Given the description of an element on the screen output the (x, y) to click on. 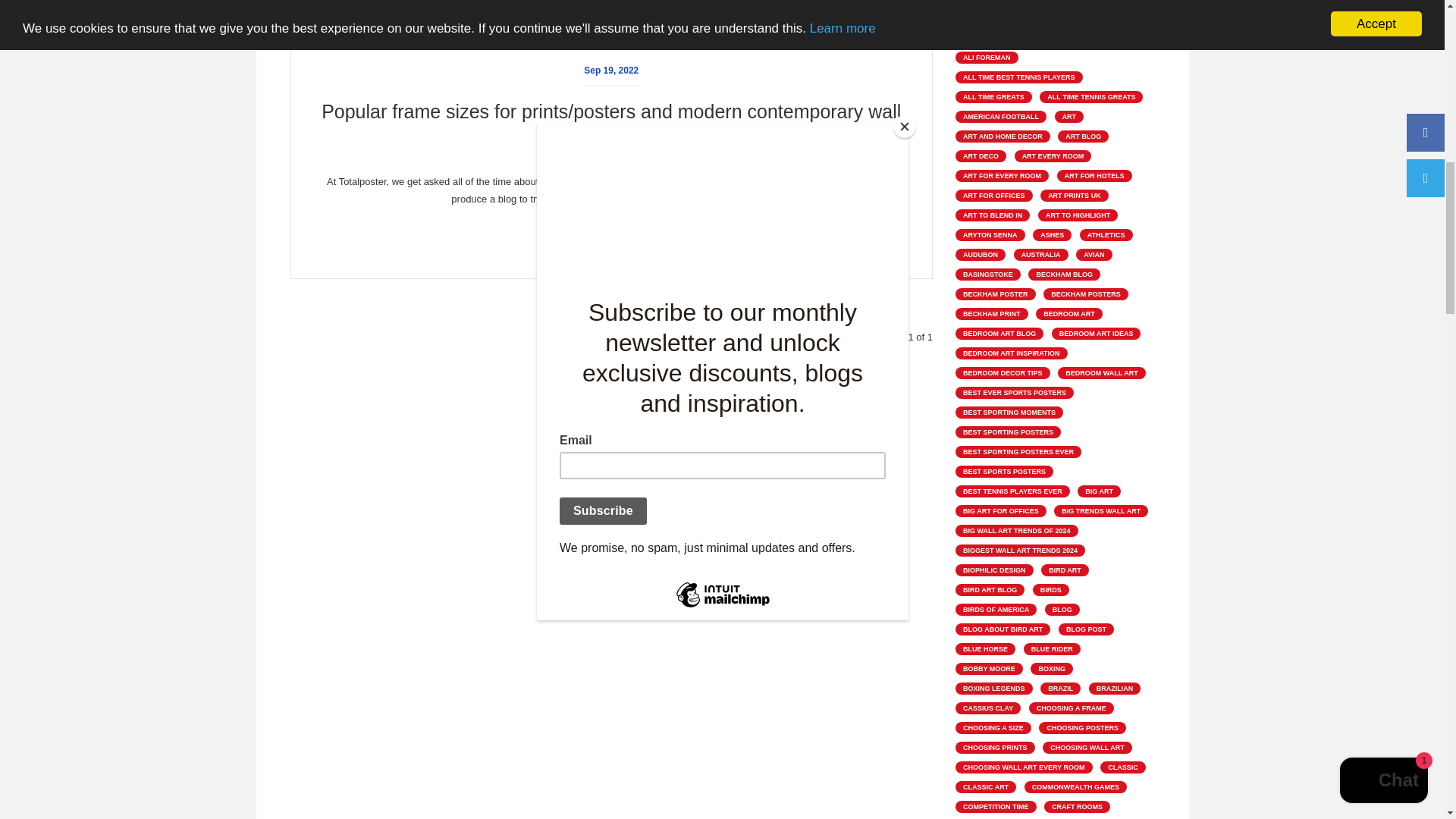
Narrow search to articles also having tag airline poster (1058, 18)
Narrow search to articles also having tag 8 ccolour printing (1000, 2)
Narrow search to articles also having tag blog (648, 37)
Narrow search to articles also having tag art prints uk (590, 37)
Narrow search to articles also having tag after the ball (1089, 2)
Narrow search to articles also having tag airline art (984, 18)
Narrow search to articles also having tag alf ramsay (984, 37)
